Given the description of an element on the screen output the (x, y) to click on. 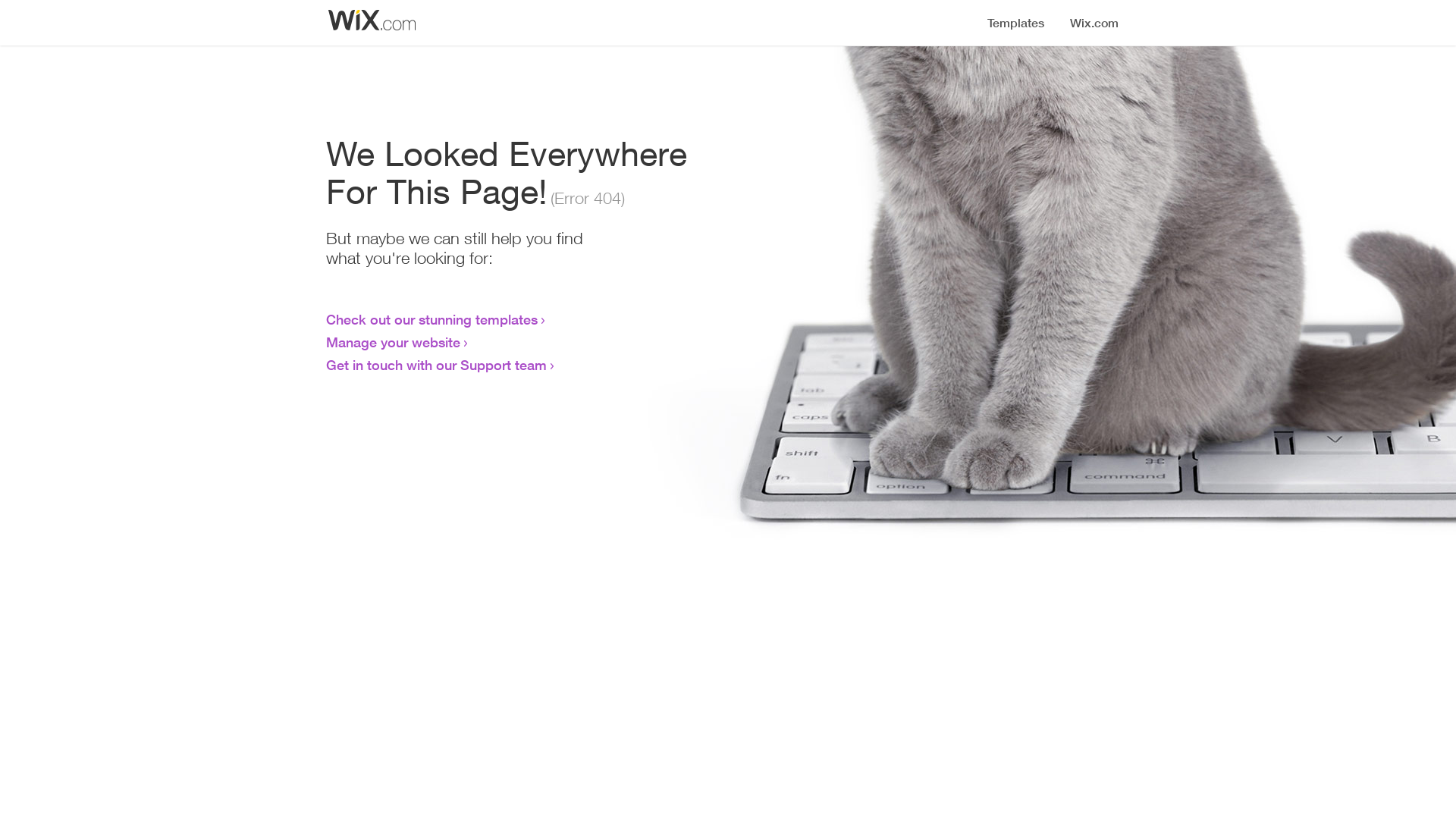
Get in touch with our Support team Element type: text (436, 364)
Check out our stunning templates Element type: text (431, 318)
Manage your website Element type: text (393, 341)
